Given the description of an element on the screen output the (x, y) to click on. 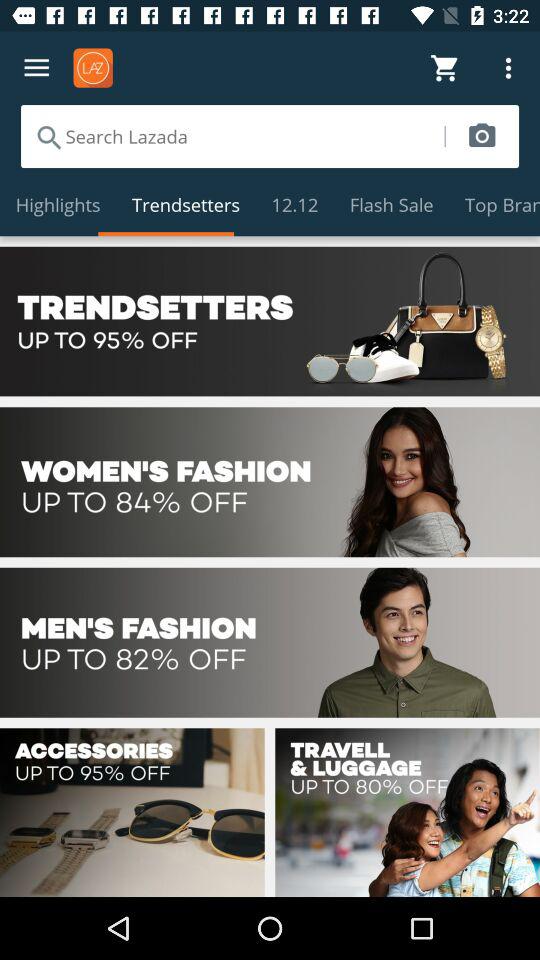
select icon above the highlights (232, 136)
